Given the description of an element on the screen output the (x, y) to click on. 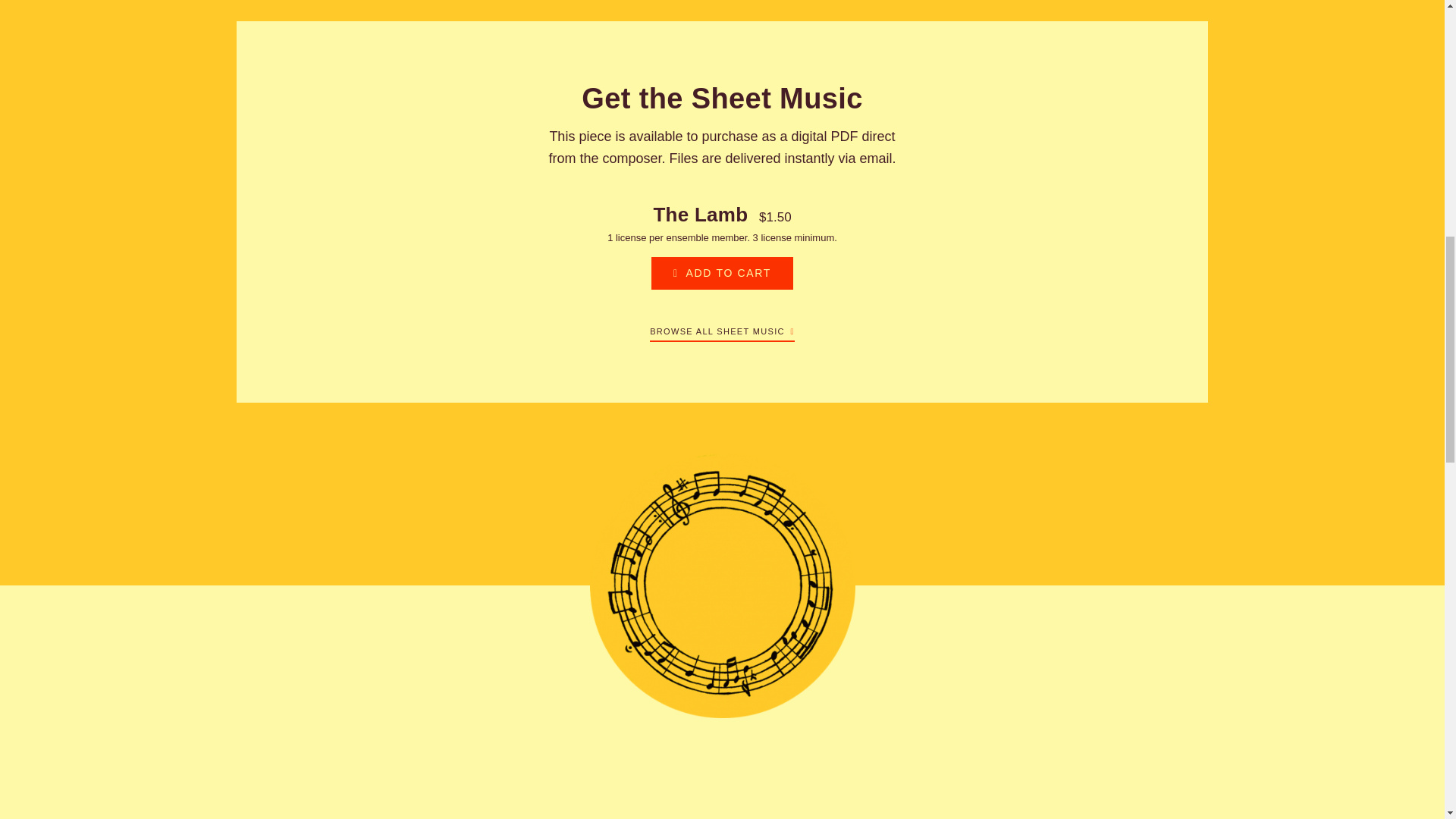
ADD TO CART (721, 273)
BROWSE ALL SHEET MUSIC (721, 328)
